Given the description of an element on the screen output the (x, y) to click on. 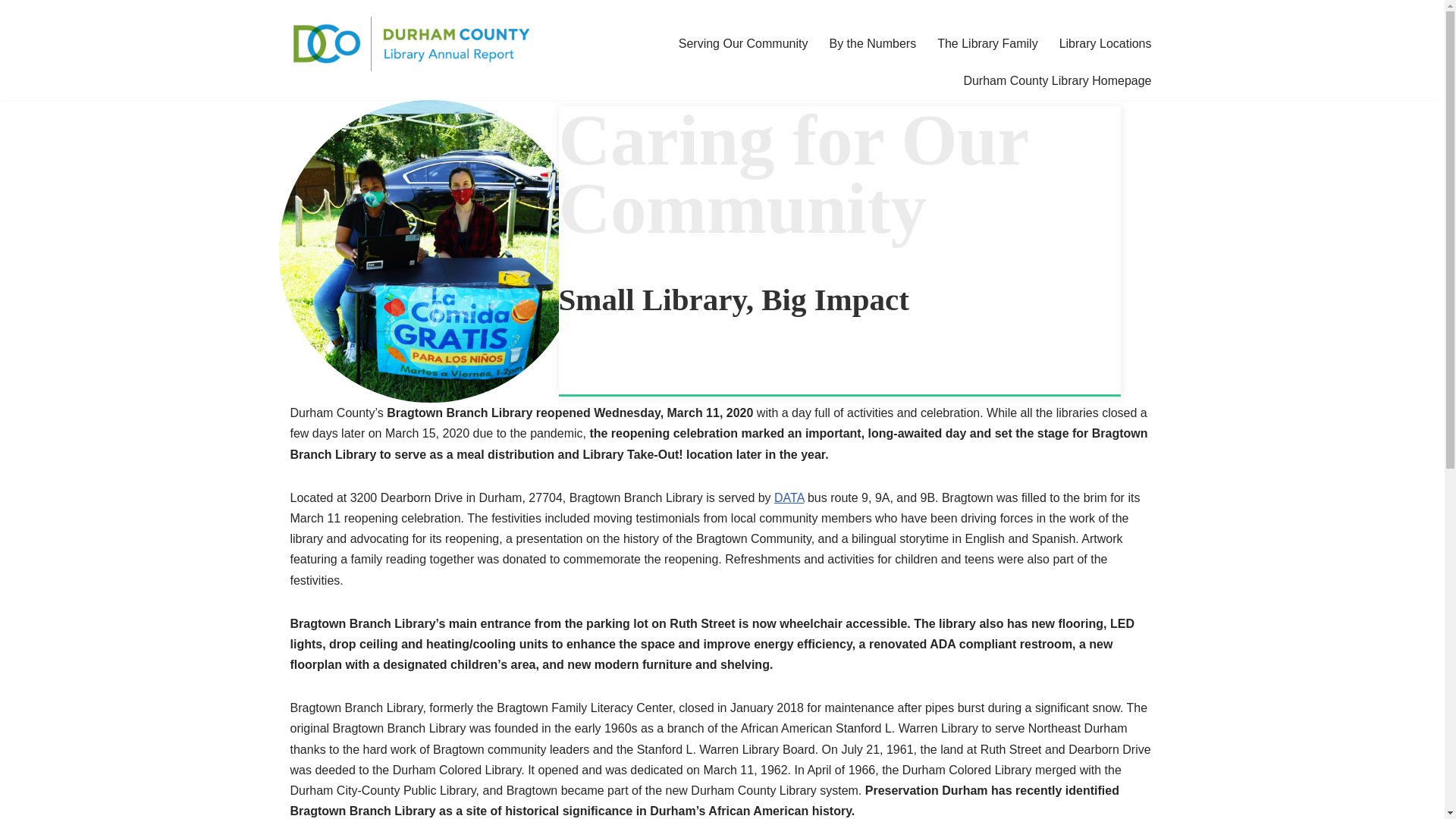
Durham County Library Homepage (1056, 80)
Serving Our Community (743, 43)
Library Locations (1105, 43)
The Library Family (986, 43)
Skip to content (11, 31)
DATA (788, 497)
By the Numbers (871, 43)
